Given the description of an element on the screen output the (x, y) to click on. 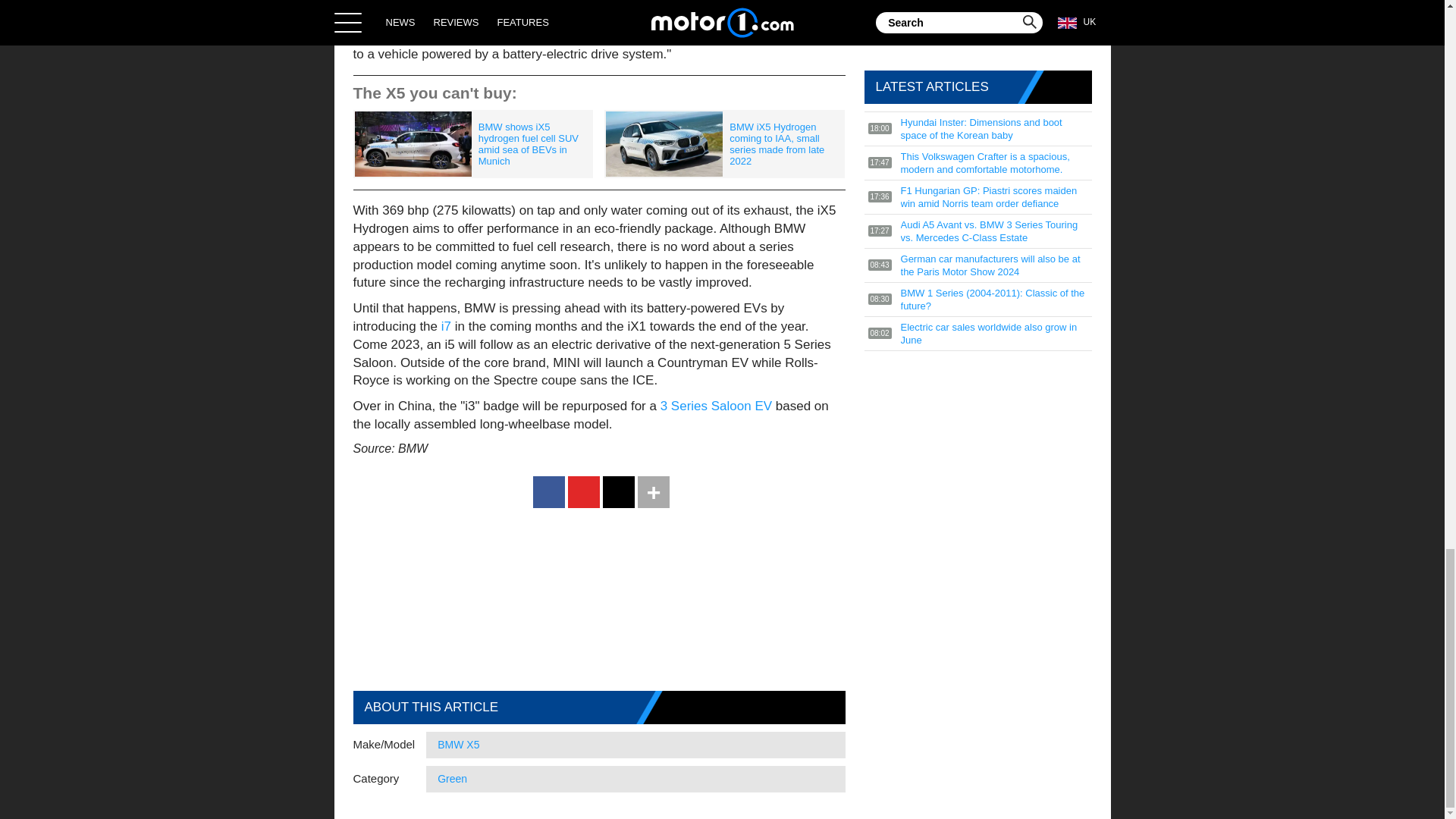
i7 (447, 326)
3 Series Saloon EV (716, 405)
